Given the description of an element on the screen output the (x, y) to click on. 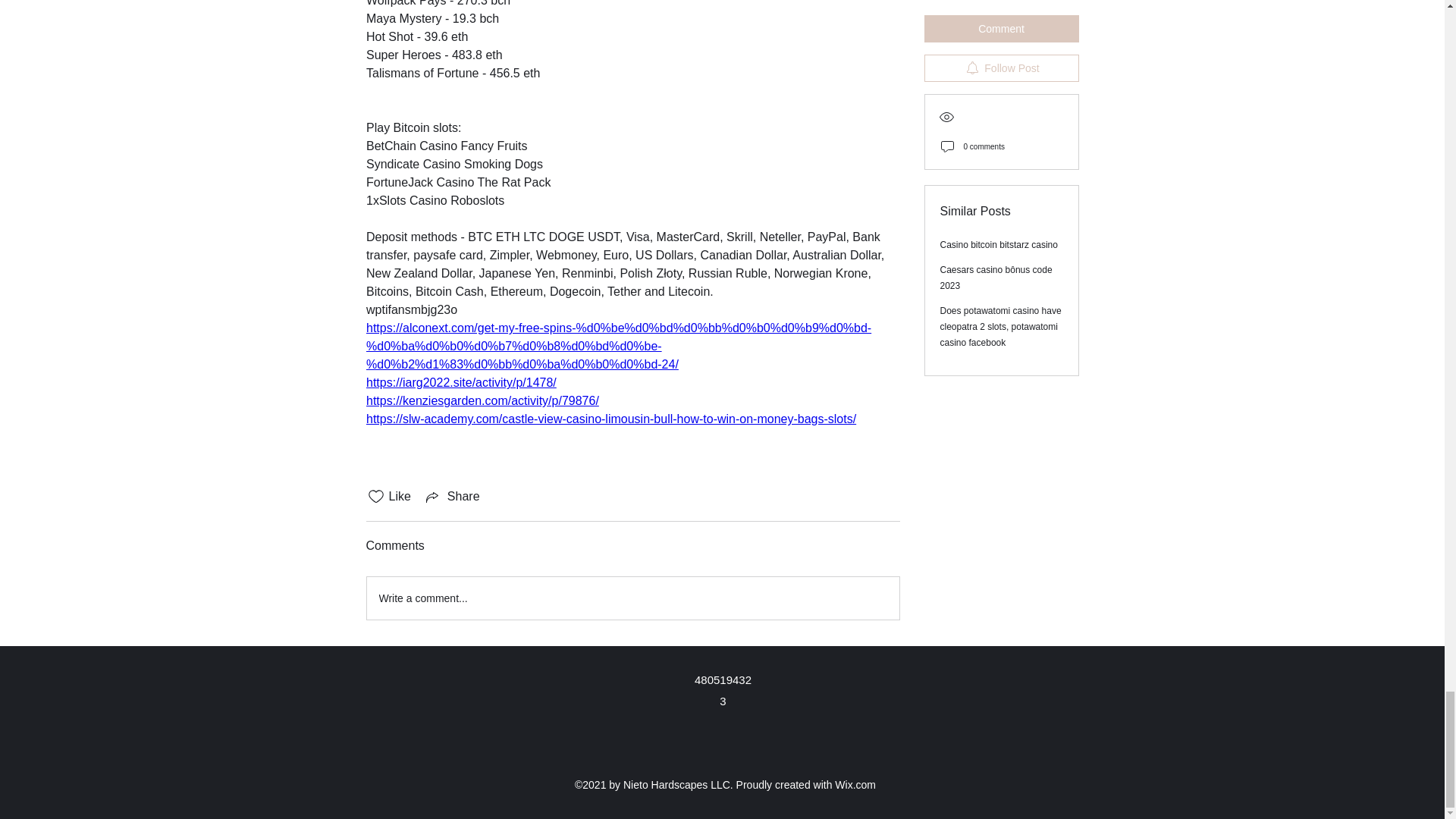
Write a comment... (632, 598)
Share (451, 496)
